Given the description of an element on the screen output the (x, y) to click on. 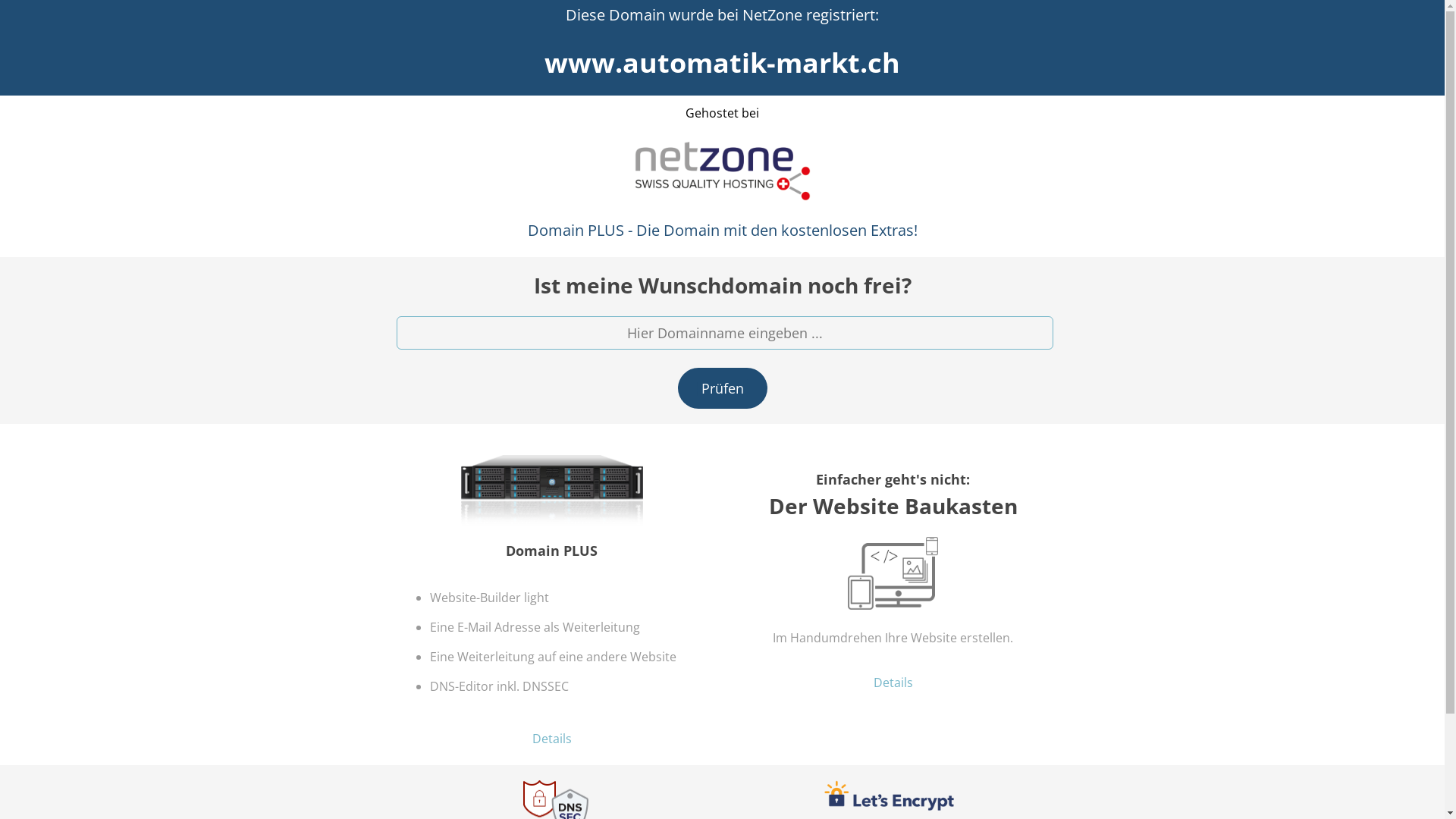
Details Element type: text (893, 682)
Details Element type: text (551, 738)
LetsEncrypt Element type: hover (888, 795)
NetZone AG Element type: hover (721, 170)
Domain PLUS Element type: hover (552, 498)
